Given the description of an element on the screen output the (x, y) to click on. 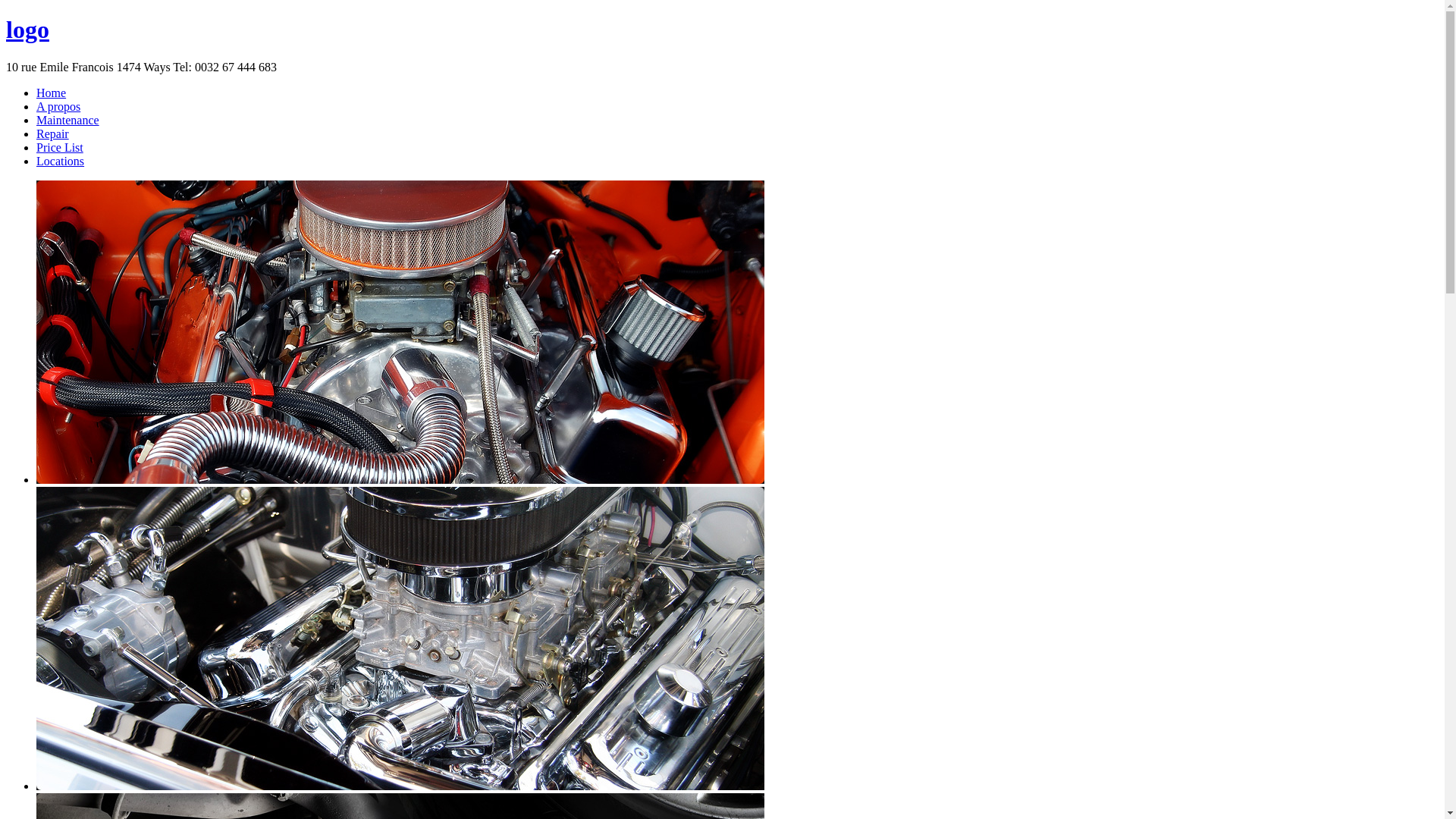
A propos Element type: text (58, 106)
logo Element type: text (27, 29)
Maintenance Element type: text (67, 119)
Home Element type: text (50, 92)
Price List Element type: text (59, 147)
Repair Element type: text (52, 133)
Locations Element type: text (60, 160)
